Given the description of an element on the screen output the (x, y) to click on. 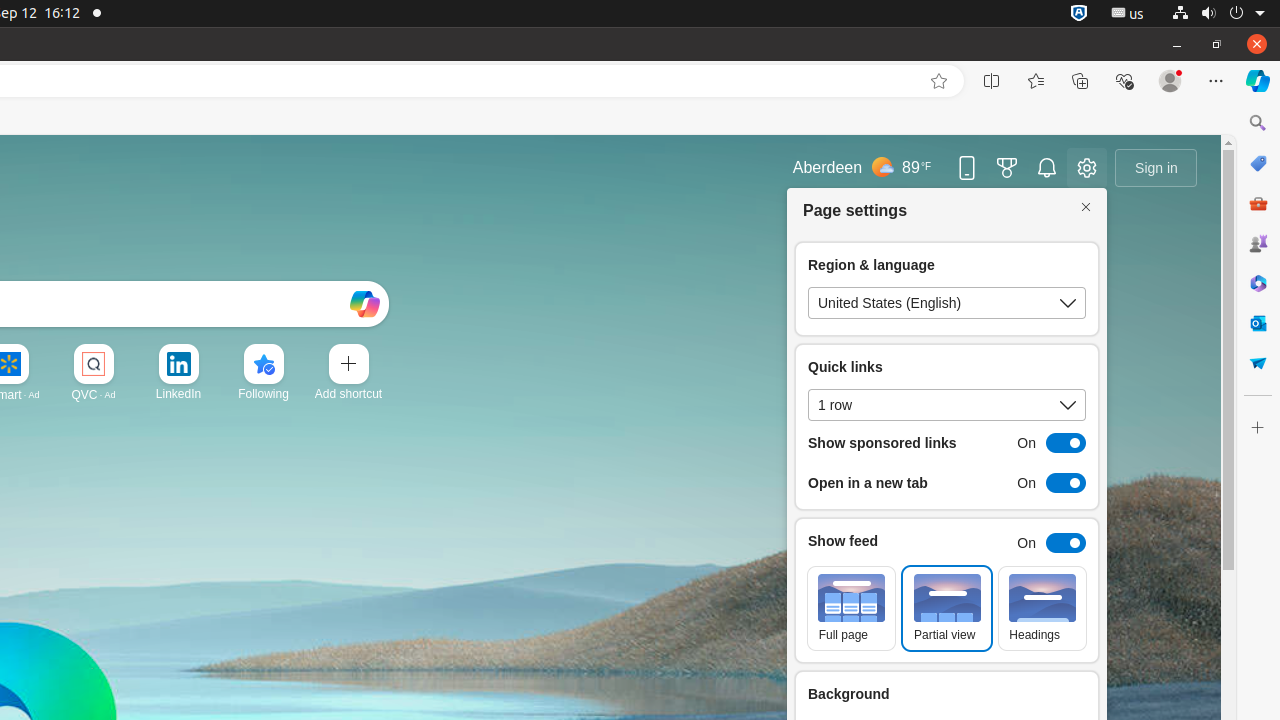
Add a site Element type: link (348, 393)
On Element type: toggle-button (1046, 543)
Following Element type: link (263, 393)
